Given the description of an element on the screen output the (x, y) to click on. 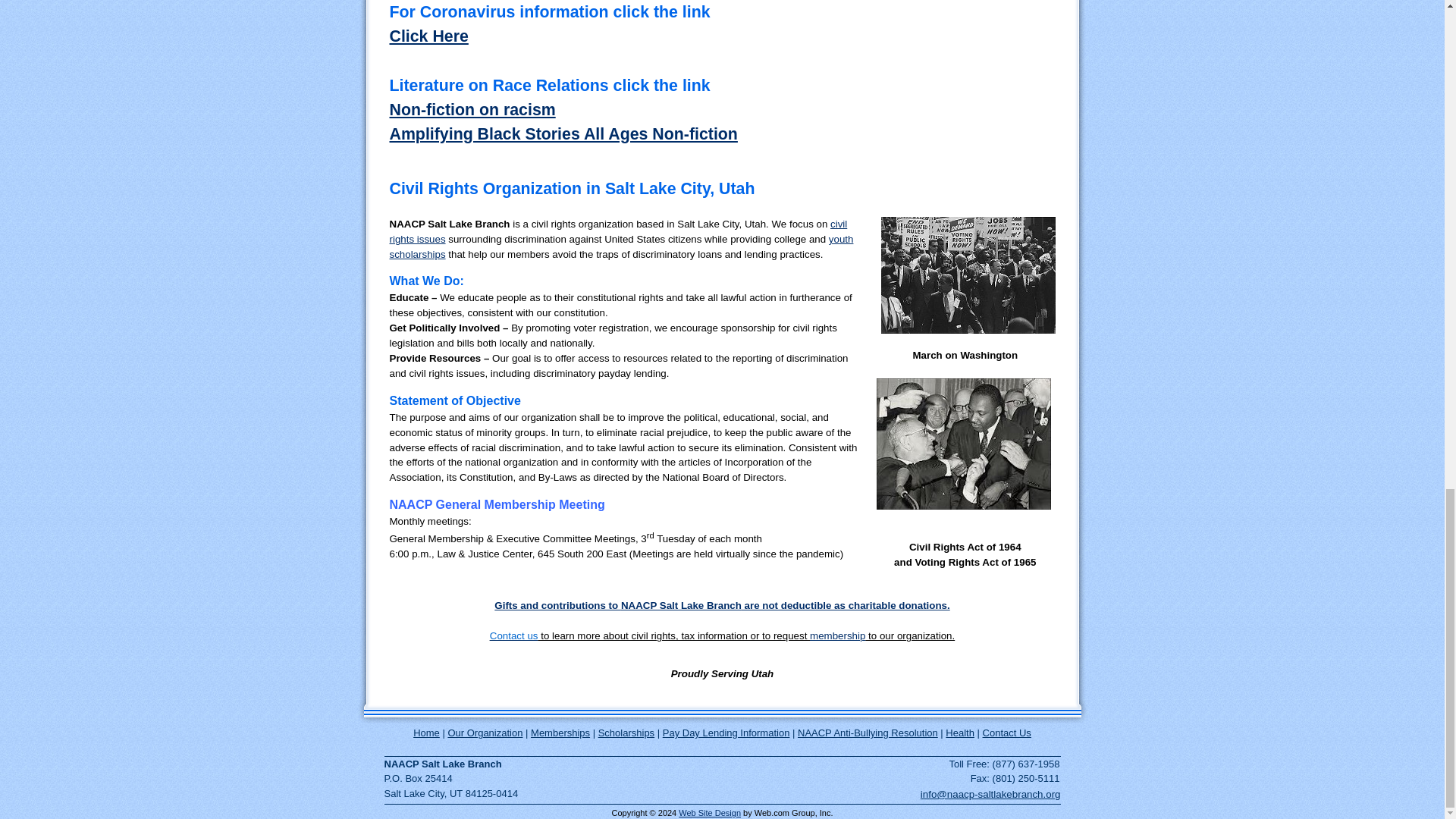
Memberships (560, 732)
Scholarships (625, 732)
Health (959, 732)
Our Organization (484, 732)
Non-fiction on racism (473, 109)
NAACP Anti-Bullying Resolution (867, 732)
civil rights issues (618, 231)
Click Here (429, 36)
Contact us (513, 635)
